Given the description of an element on the screen output the (x, y) to click on. 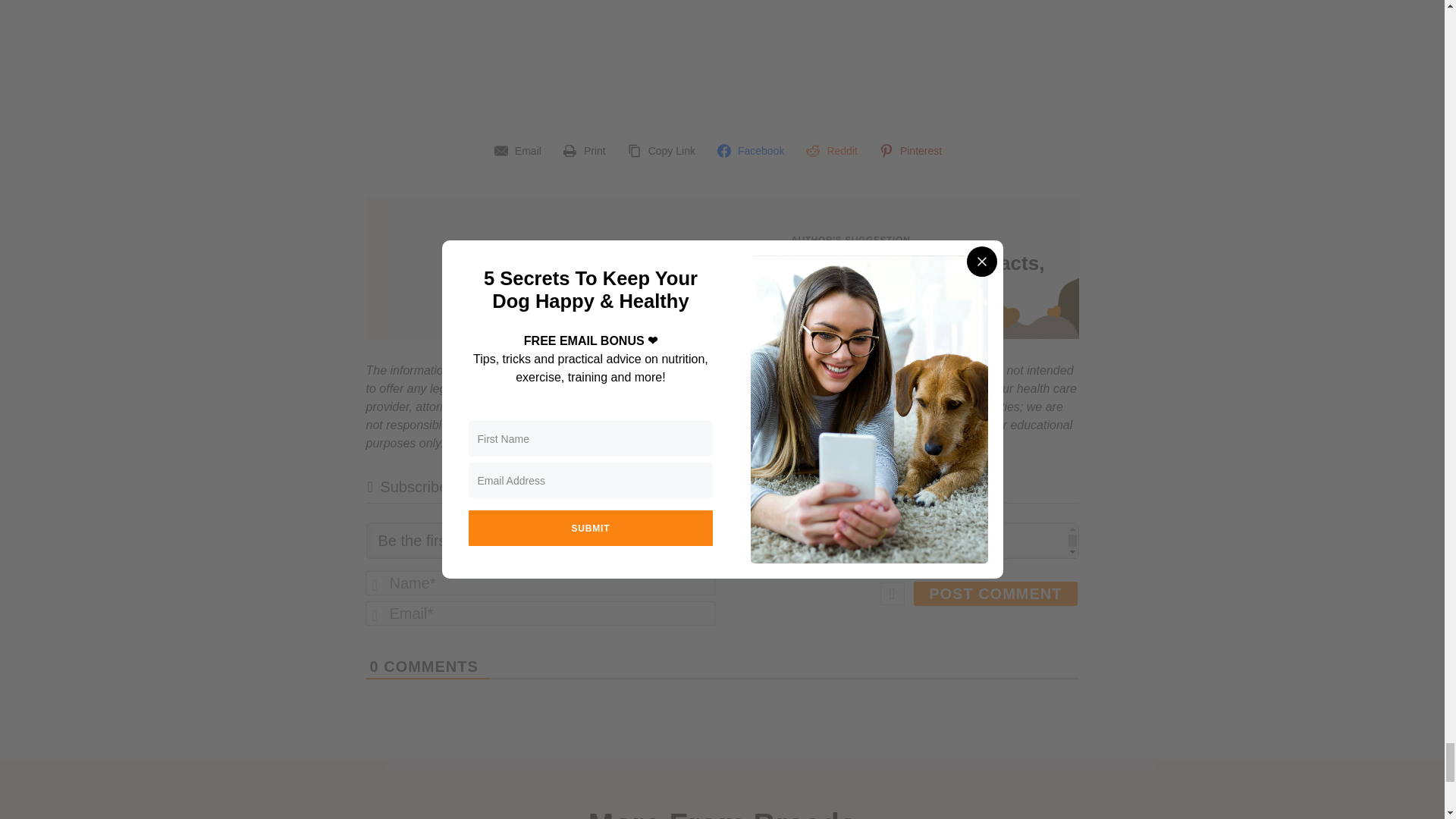
Post Comment (995, 593)
